Given the description of an element on the screen output the (x, y) to click on. 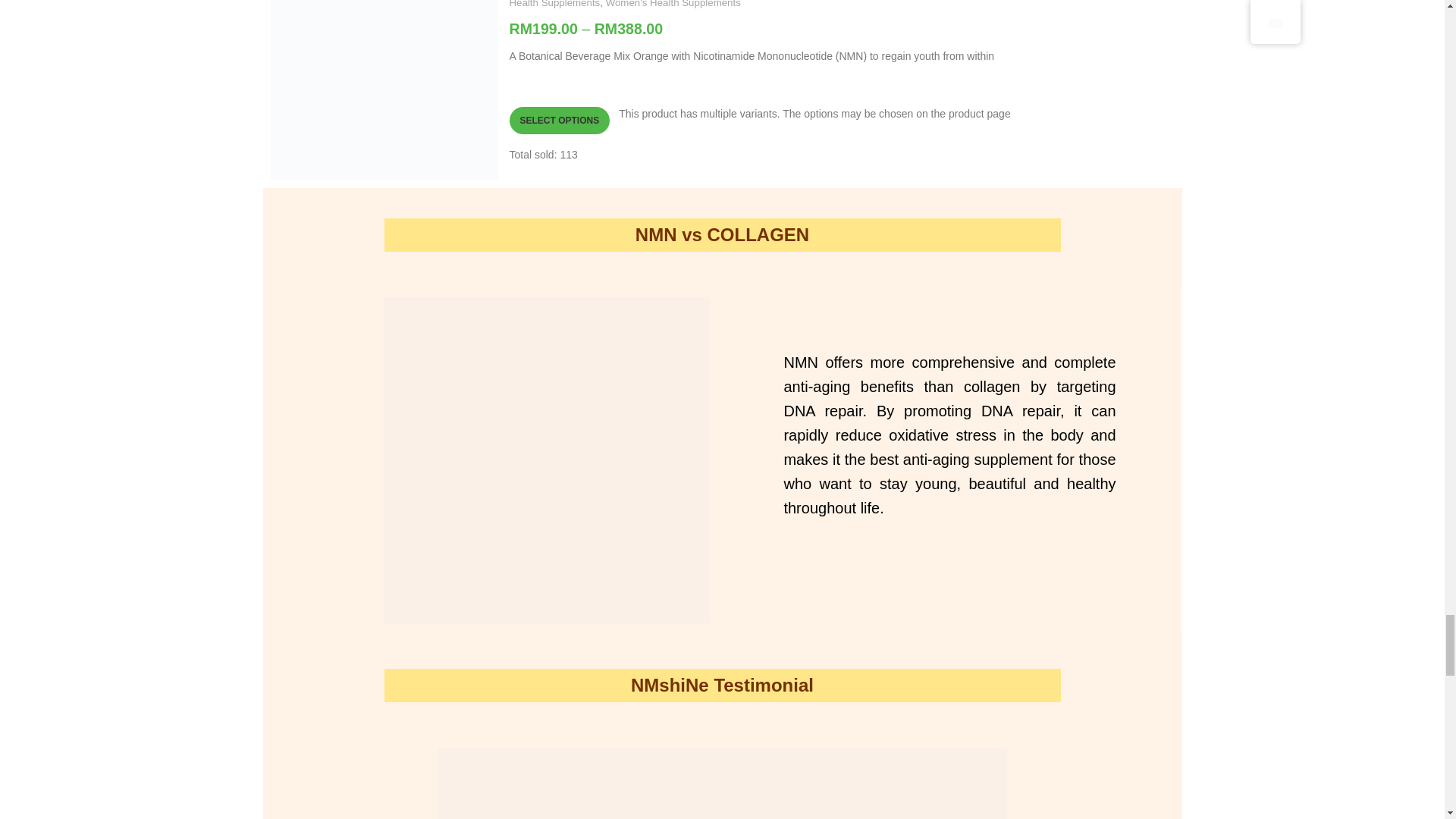
Health Supplements (554, 5)
nmshine testimonial website 2 (722, 783)
SELECT OPTIONS (559, 120)
Women's Health Supplements (673, 5)
